Given the description of an element on the screen output the (x, y) to click on. 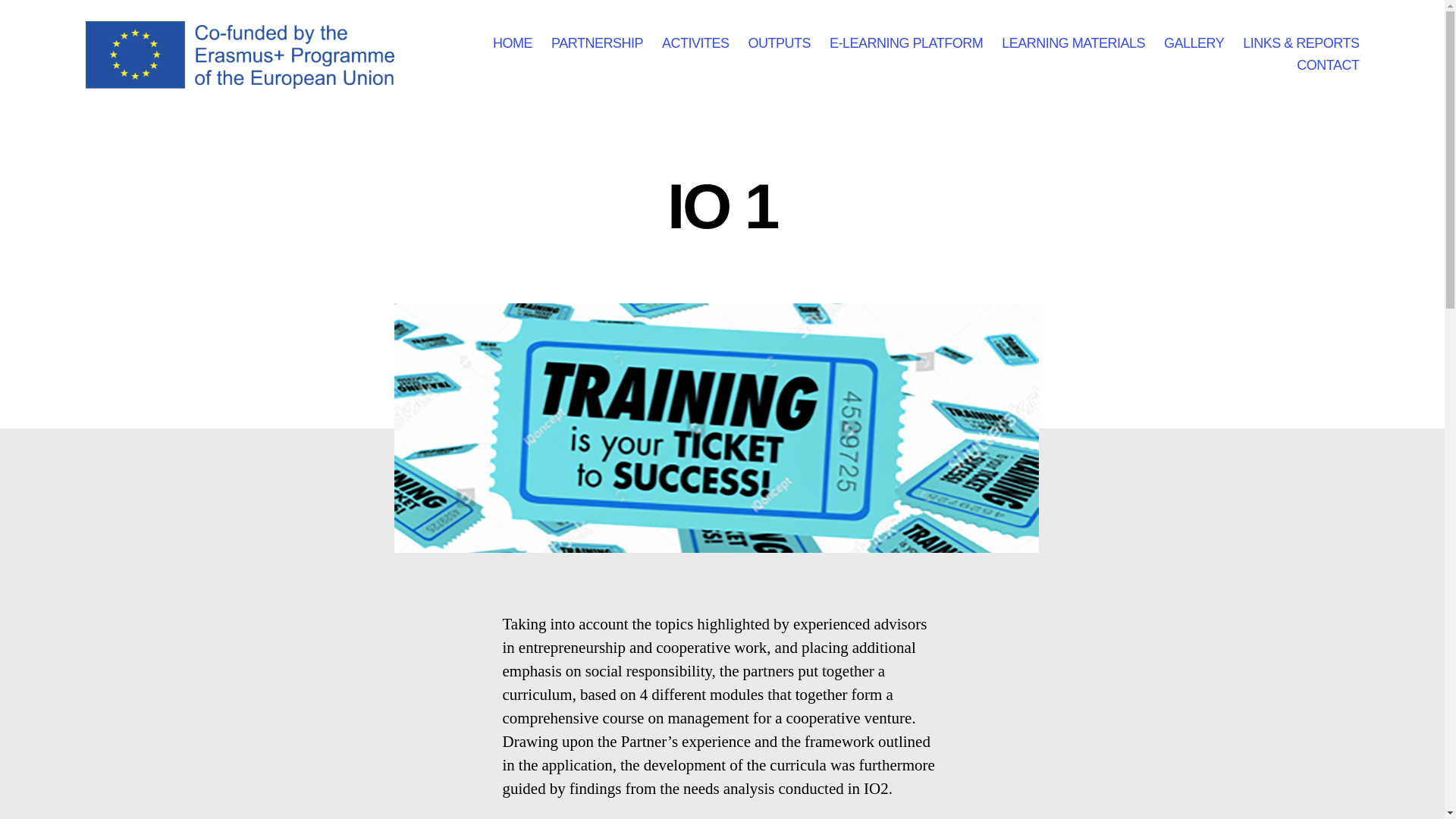
PARTNERSHIP (597, 44)
LEARNING MATERIALS (1072, 44)
ACTIVITES (695, 44)
OUTPUTS (779, 44)
E-LEARNING PLATFORM (905, 44)
HOME (512, 44)
GALLERY (1193, 44)
CONTACT (1327, 65)
